Given the description of an element on the screen output the (x, y) to click on. 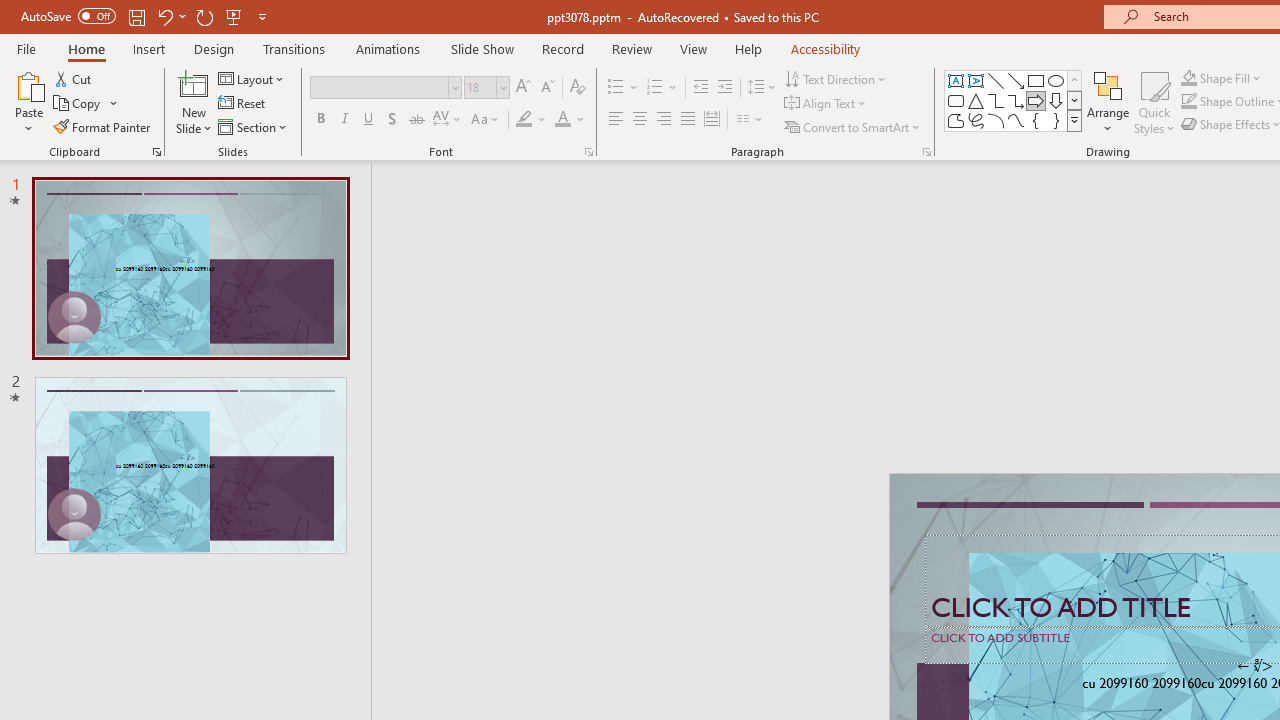
TextBox 7 (1254, 666)
